Given the description of an element on the screen output the (x, y) to click on. 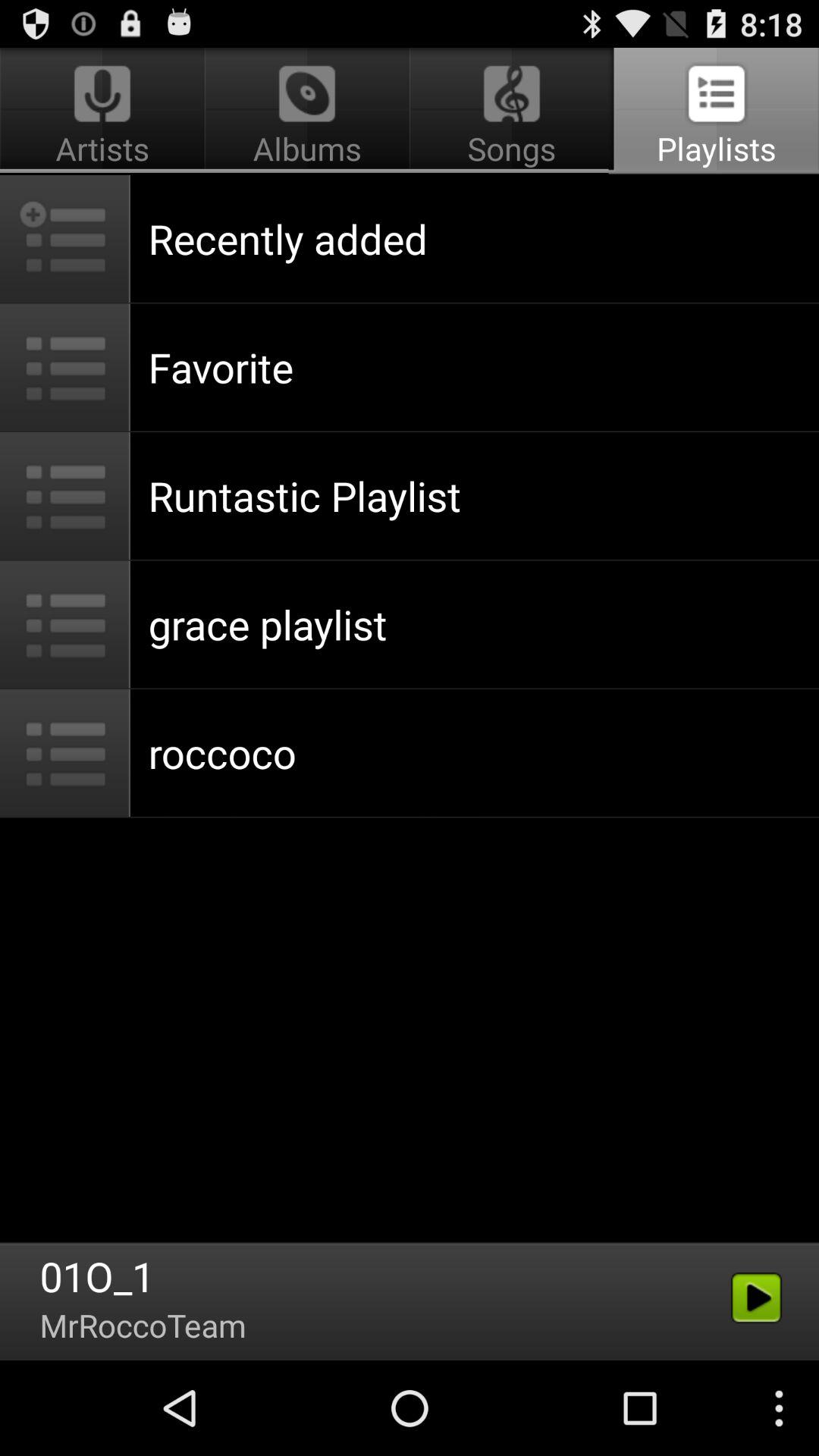
turn off the icon to the right of the albums item (713, 111)
